Given the description of an element on the screen output the (x, y) to click on. 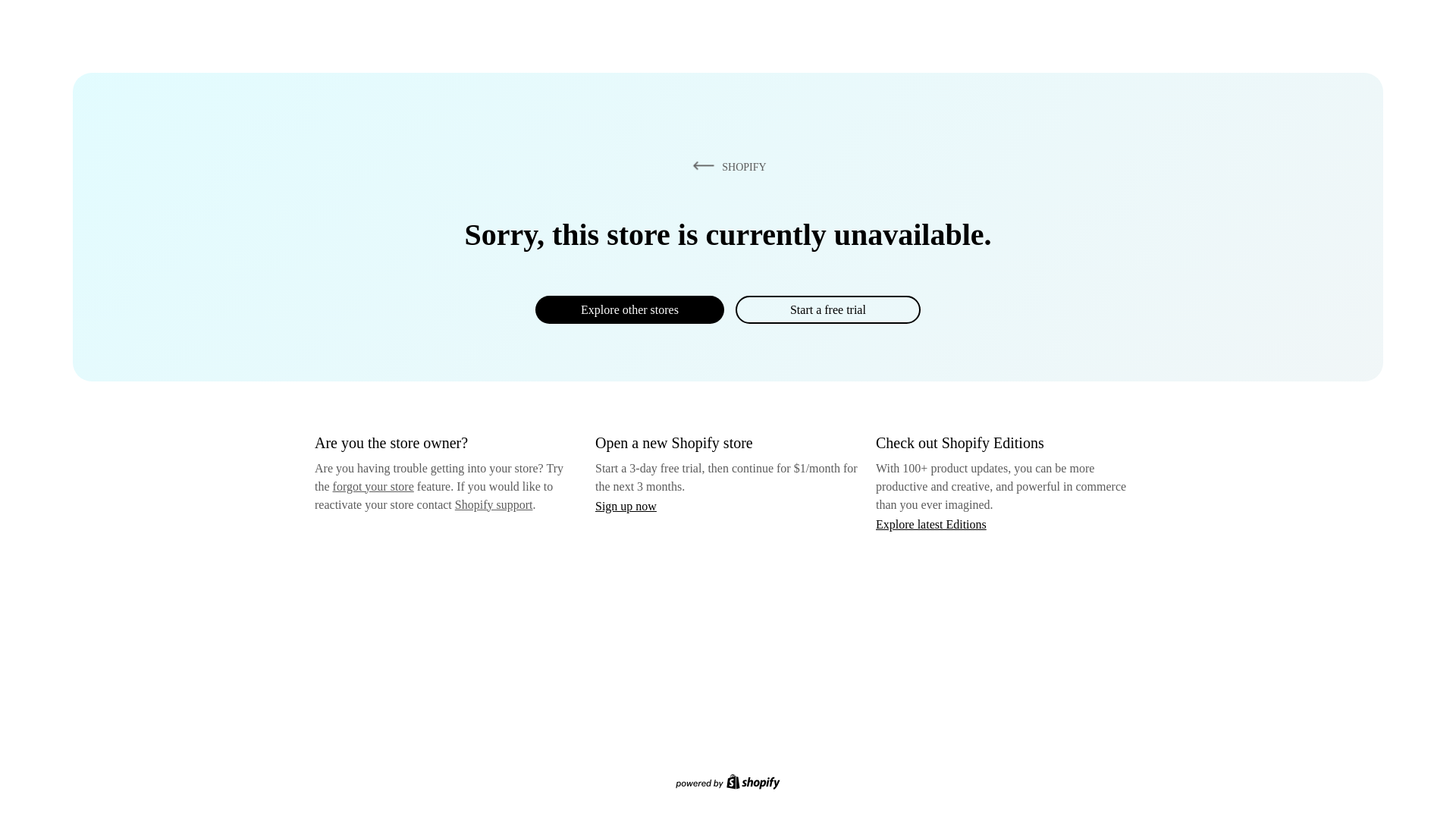
Explore latest Editions (931, 523)
Explore other stores (629, 309)
Sign up now (625, 505)
Start a free trial (827, 309)
forgot your store (373, 486)
Shopify support (493, 504)
SHOPIFY (726, 166)
